Given the description of an element on the screen output the (x, y) to click on. 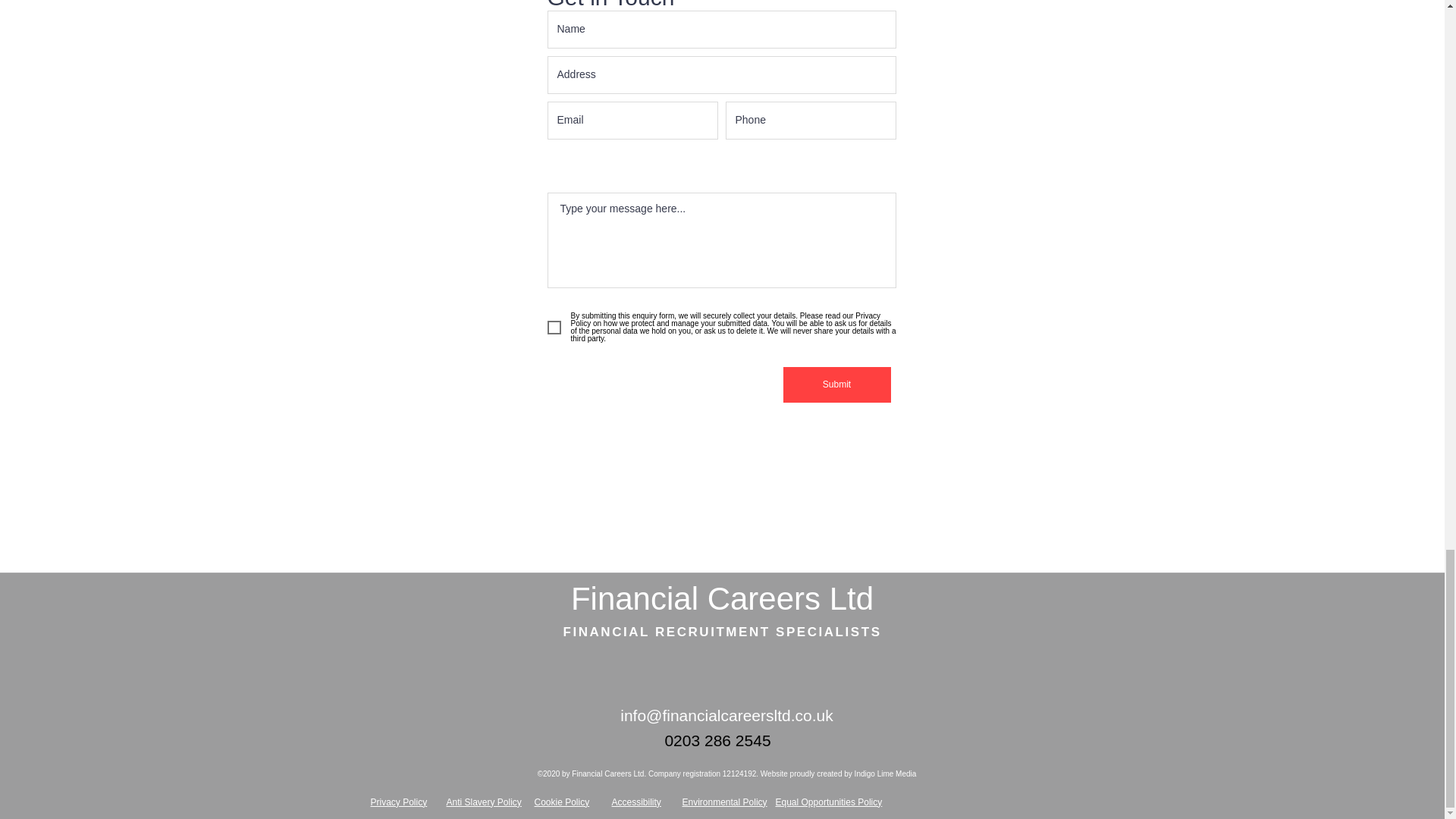
Submit (836, 384)
